Given the description of an element on the screen output the (x, y) to click on. 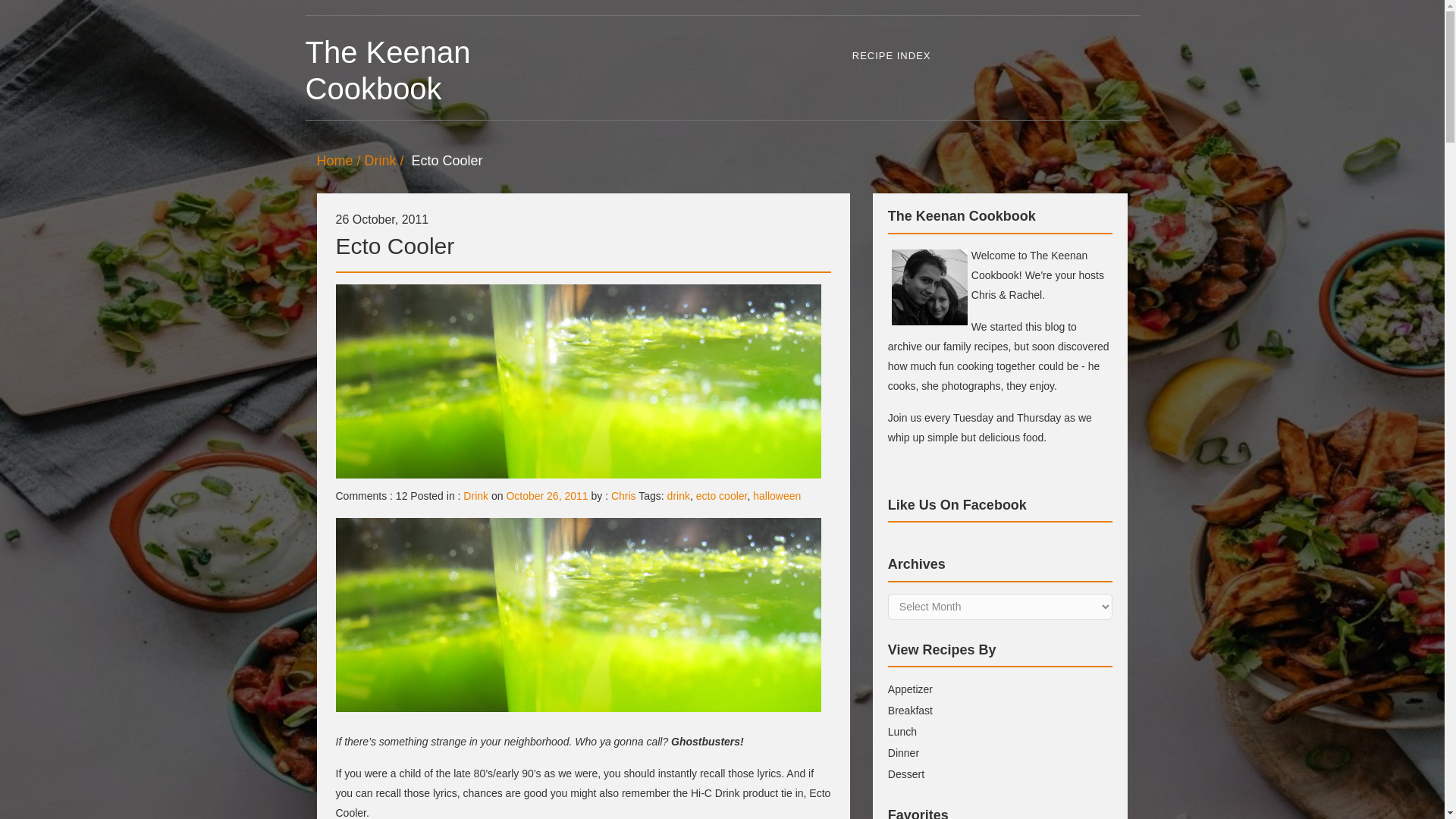
halloween (776, 495)
The Keenan Cookbook (408, 70)
Chris (623, 495)
October 26, 2011 (546, 495)
Drink (386, 160)
View all posts by Chris (623, 495)
RECIPE INDEX (891, 55)
7:00 am (546, 495)
Home (341, 160)
Drink (475, 495)
